Given the description of an element on the screen output the (x, y) to click on. 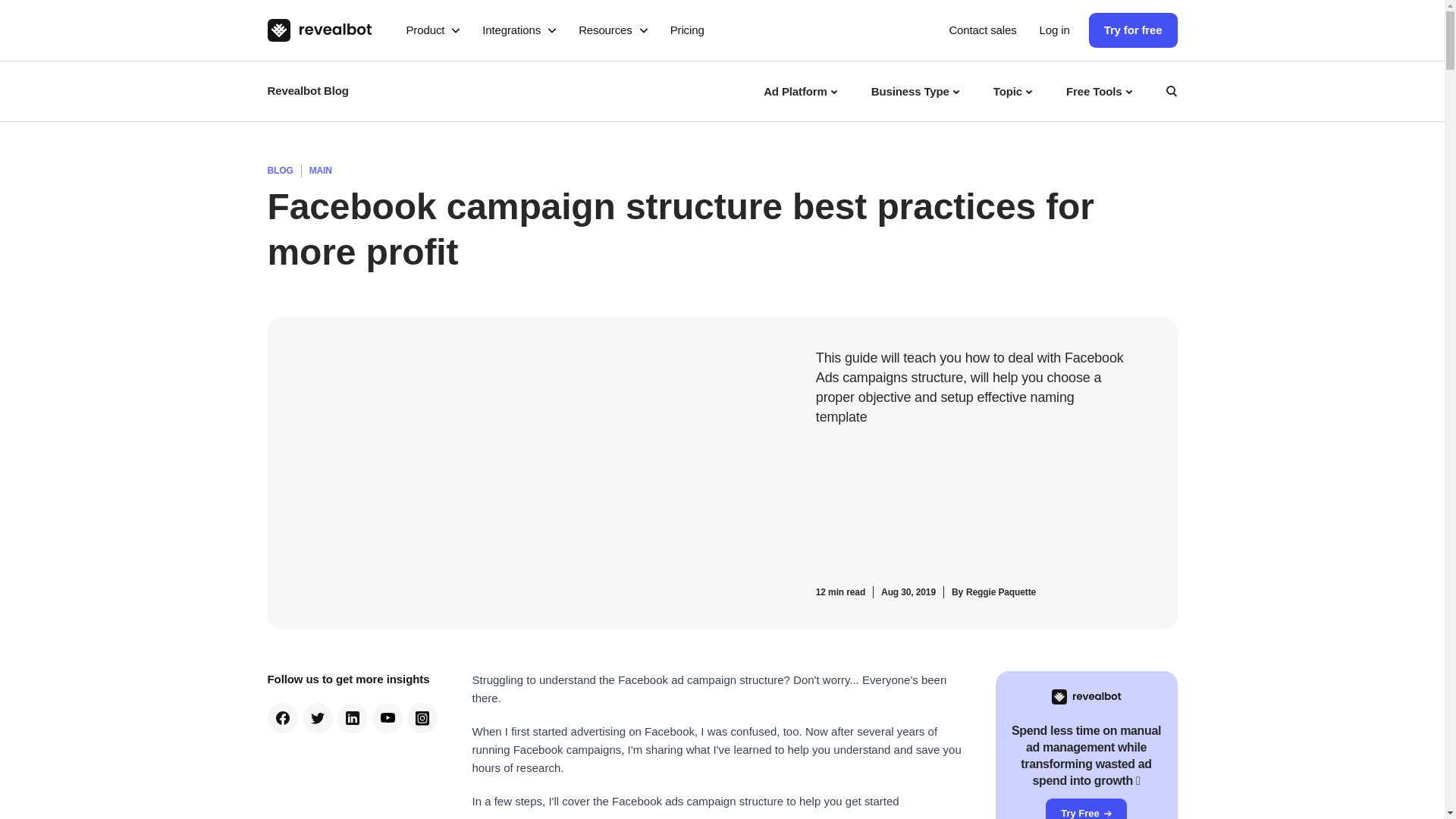
Ad Platform (801, 90)
Contact sales (982, 30)
Try for free (1133, 30)
Pricing (687, 30)
Revealbot Blog (306, 90)
Log in (1054, 30)
